Given the description of an element on the screen output the (x, y) to click on. 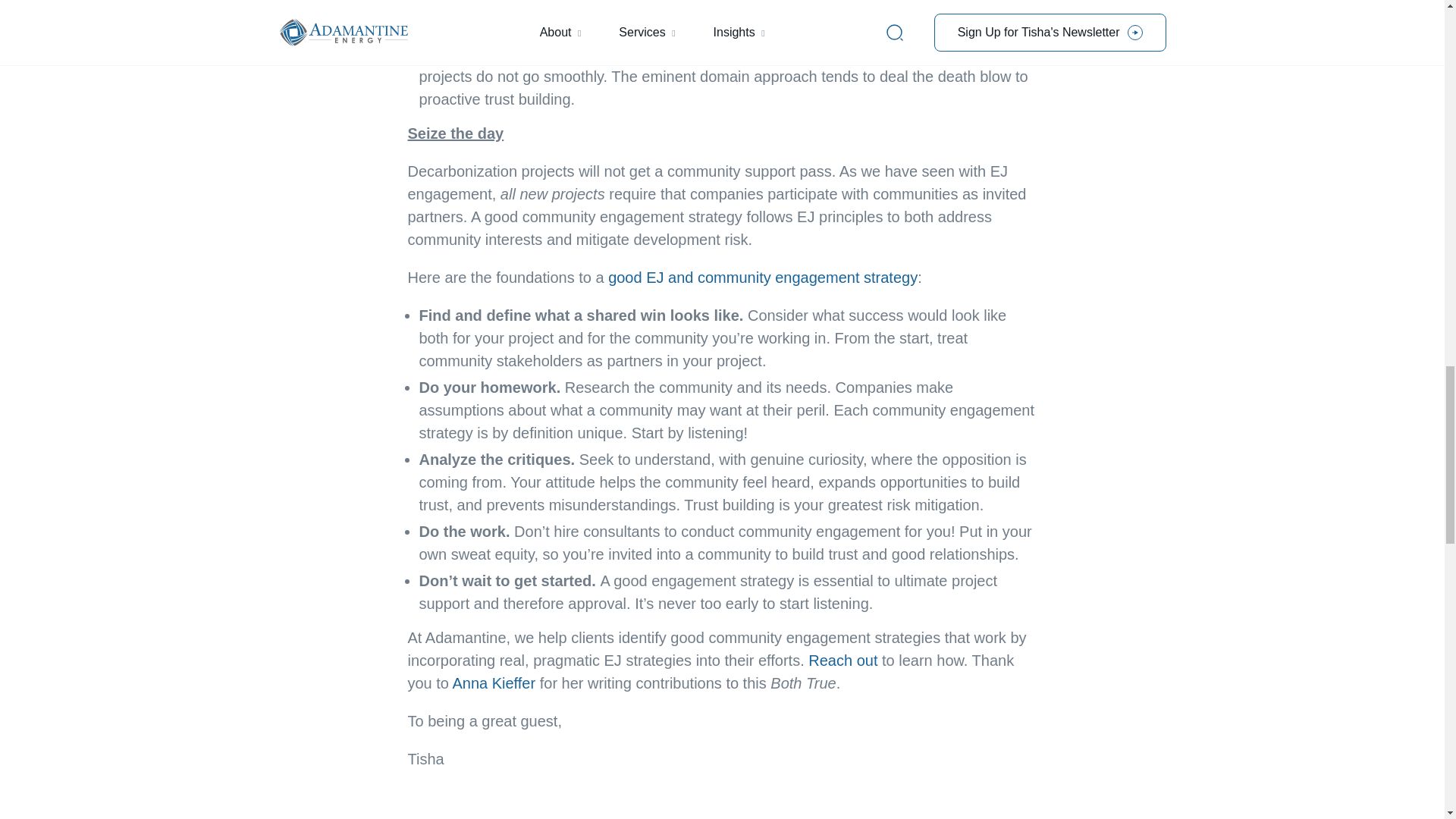
Anna Kieffer (493, 682)
good EJ and community engagement strategy (762, 277)
opposition (716, 8)
Reach out (842, 660)
